Given the description of an element on the screen output the (x, y) to click on. 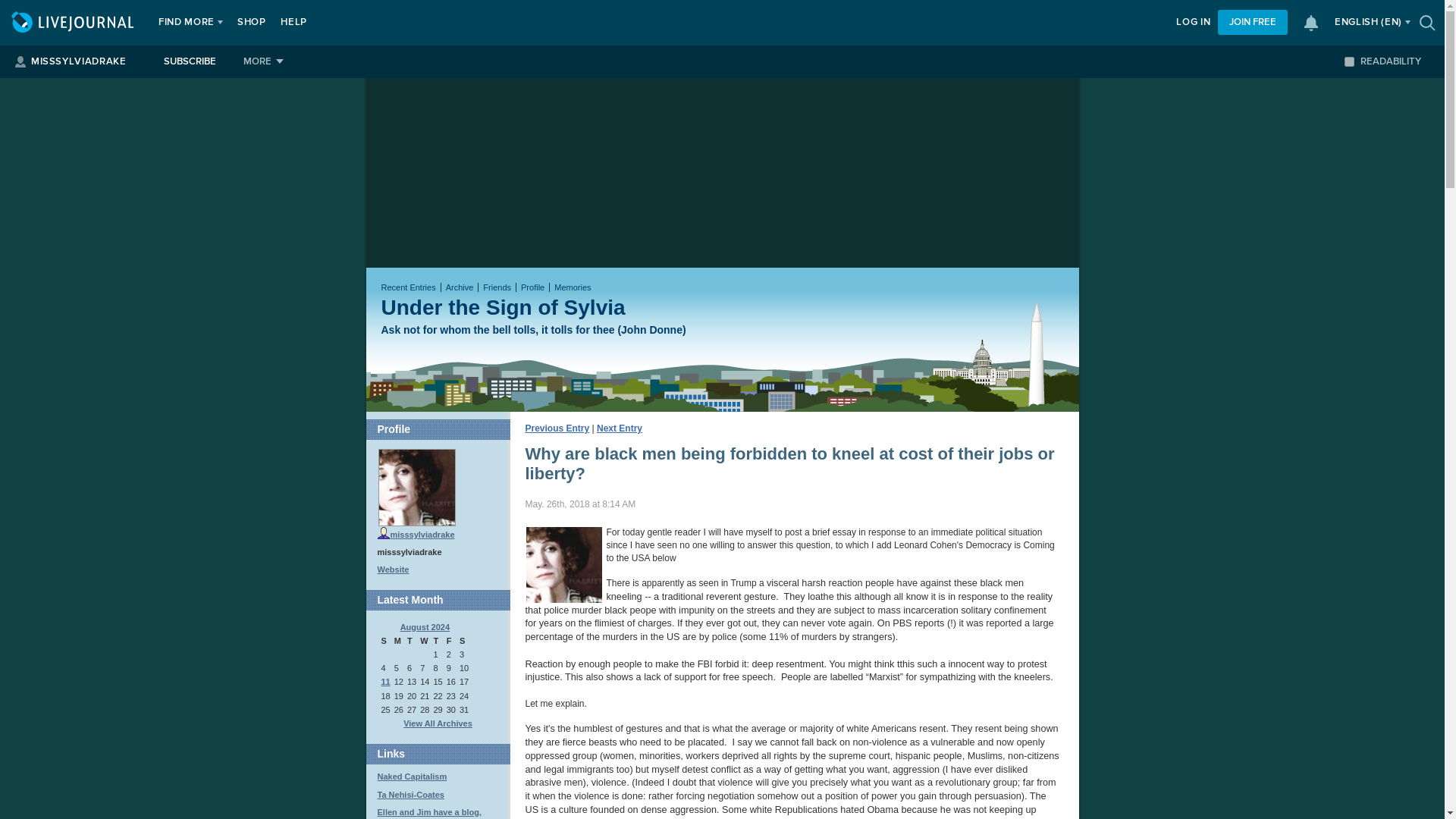
Archive (459, 286)
Profile (532, 286)
LIVEJOURNAL (73, 22)
SHOP (251, 22)
LOG IN (1193, 22)
FIND MORE (186, 22)
Recent Entries (407, 286)
on (1348, 61)
HELP (293, 22)
JOIN FREE (1252, 22)
